Given the description of an element on the screen output the (x, y) to click on. 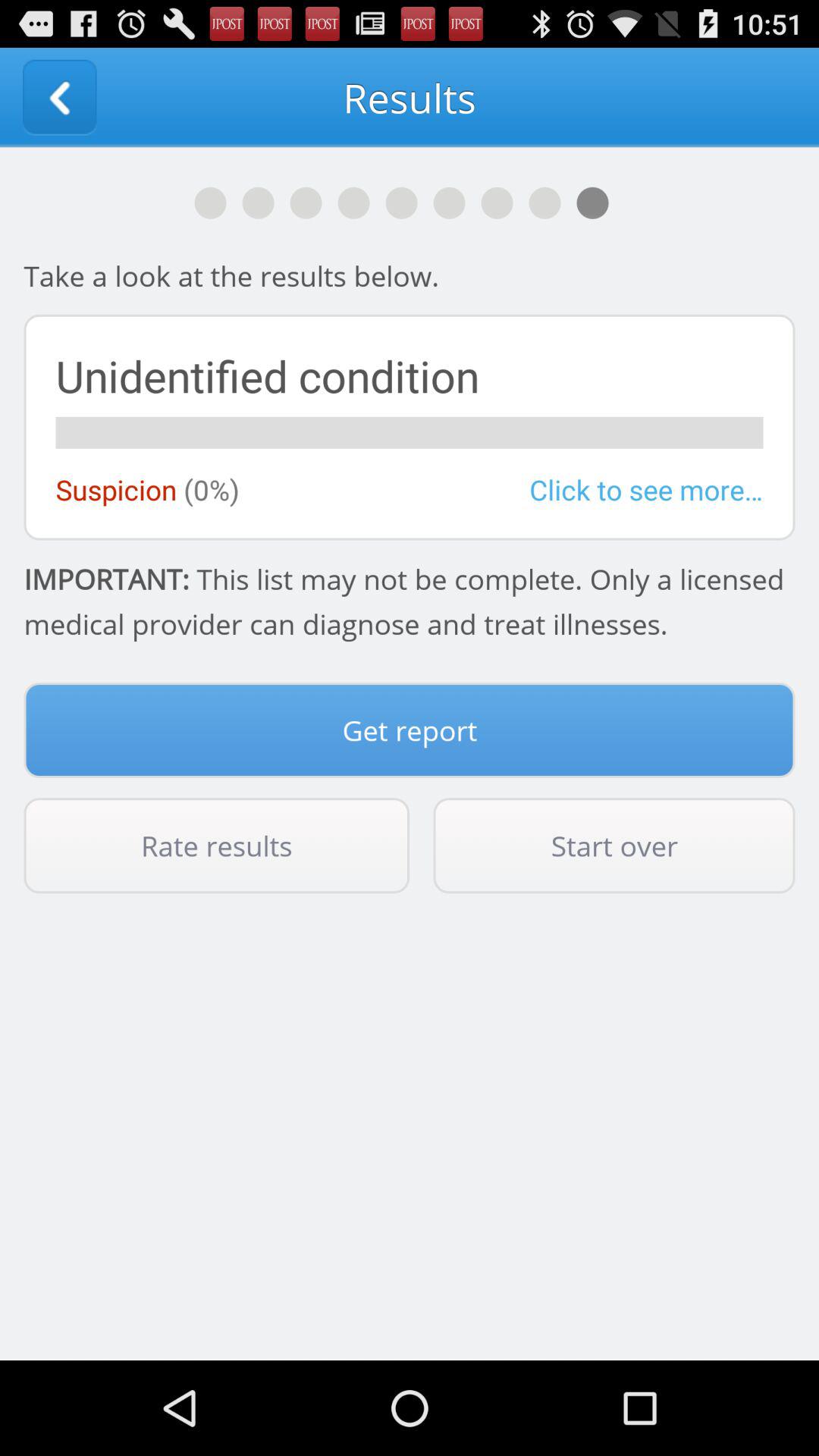
press item below important this list (409, 730)
